Given the description of an element on the screen output the (x, y) to click on. 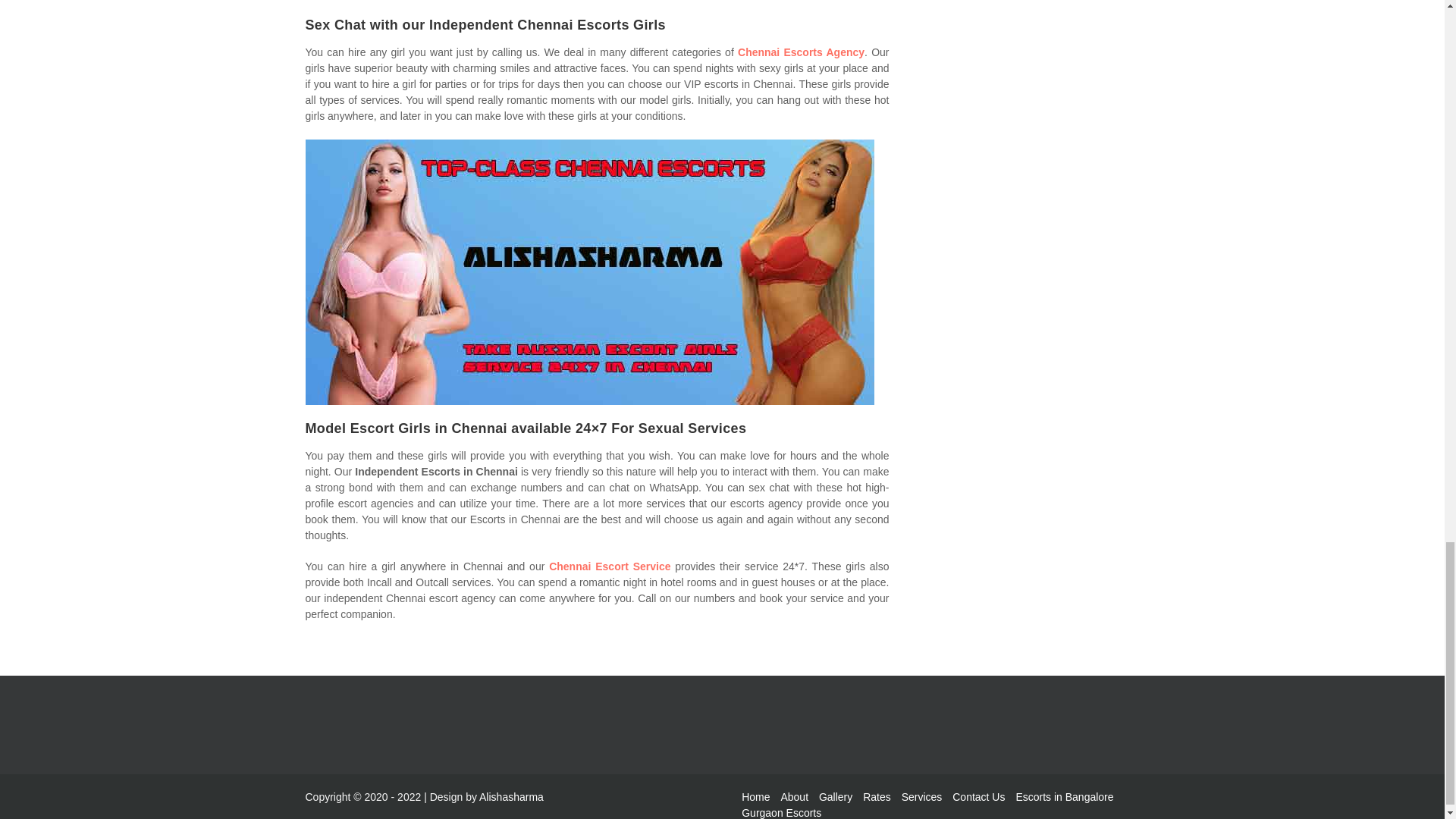
Chennai Escort Service (608, 566)
Chennai Escorts Agency (801, 51)
